Given the description of an element on the screen output the (x, y) to click on. 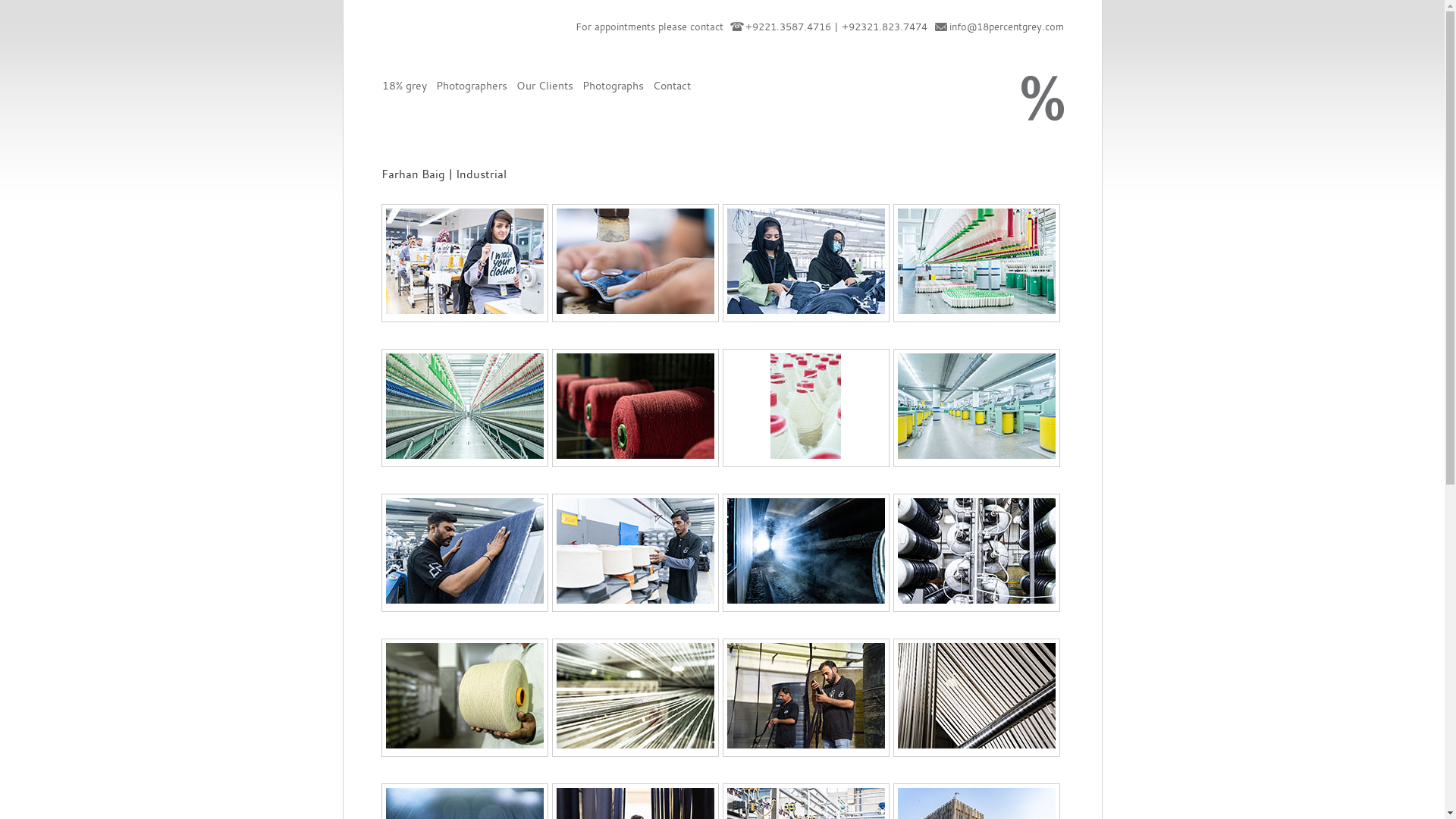
Farhan Baig Element type: hover (635, 260)
Farhan Baig Element type: hover (635, 695)
Farhan Baig Element type: hover (463, 260)
Industrial Element type: hover (463, 599)
info@18percentgrey.com Element type: text (1006, 26)
Industrial Element type: hover (805, 454)
Industrial Element type: hover (463, 454)
Industrial Element type: hover (463, 744)
Contact Element type: text (671, 84)
Industrial Element type: hover (805, 309)
Farhan Baig Element type: hover (976, 260)
Farhan Baig Element type: hover (805, 405)
18% grey Element type: text (404, 84)
Farhan Baig Element type: hover (976, 405)
Farhan Baig Element type: hover (805, 550)
Photographers Element type: text (470, 84)
Industrial Element type: hover (976, 599)
Industrial Element type: hover (635, 599)
Farhan Baig Element type: hover (463, 550)
Farhan Baig Element type: hover (976, 550)
Industrial Element type: hover (635, 744)
Farhan Baig Element type: hover (463, 405)
Industrial Element type: hover (976, 454)
Industrial Element type: hover (463, 309)
18% grey Element type: hover (1041, 97)
Farhan Baig Element type: hover (635, 405)
Industrial Element type: hover (976, 309)
Industrial Element type: hover (976, 744)
Farhan Baig Element type: hover (976, 695)
Our Clients Element type: text (543, 84)
Industrial Element type: hover (635, 454)
Farhan Baig Element type: hover (805, 695)
Farhan Baig Element type: hover (805, 260)
Industrial Element type: hover (805, 599)
Photographs Element type: text (612, 84)
Industrial Element type: hover (635, 309)
Farhan Baig Element type: hover (463, 695)
Farhan Baig Element type: hover (635, 550)
Industrial Element type: hover (805, 744)
